Given the description of an element on the screen output the (x, y) to click on. 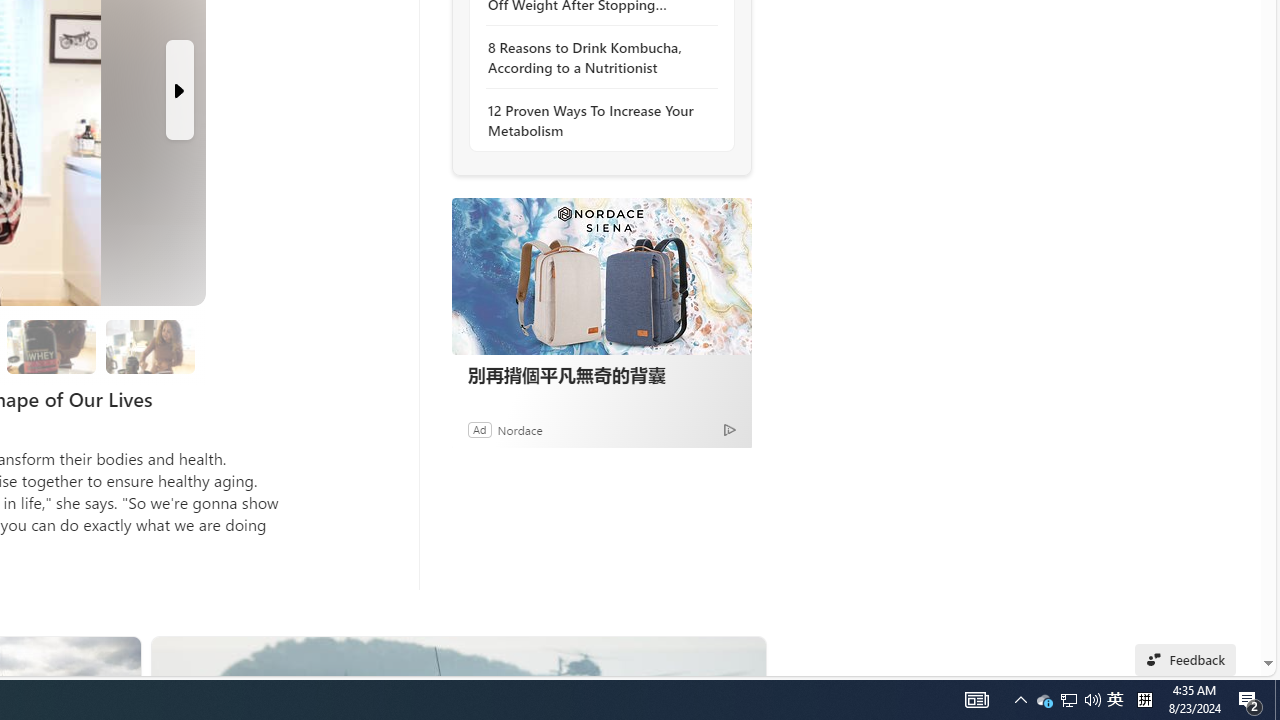
6 Since Eating More Protein Her Training Has Improved (51, 346)
7 They Don't Skip Meals (150, 346)
8 Reasons to Drink Kombucha, According to a Nutritionist (596, 57)
7 They Don't Skip Meals (149, 346)
Class: progress (149, 343)
12 Proven Ways To Increase Your Metabolism (596, 120)
Next Slide (179, 89)
